Given the description of an element on the screen output the (x, y) to click on. 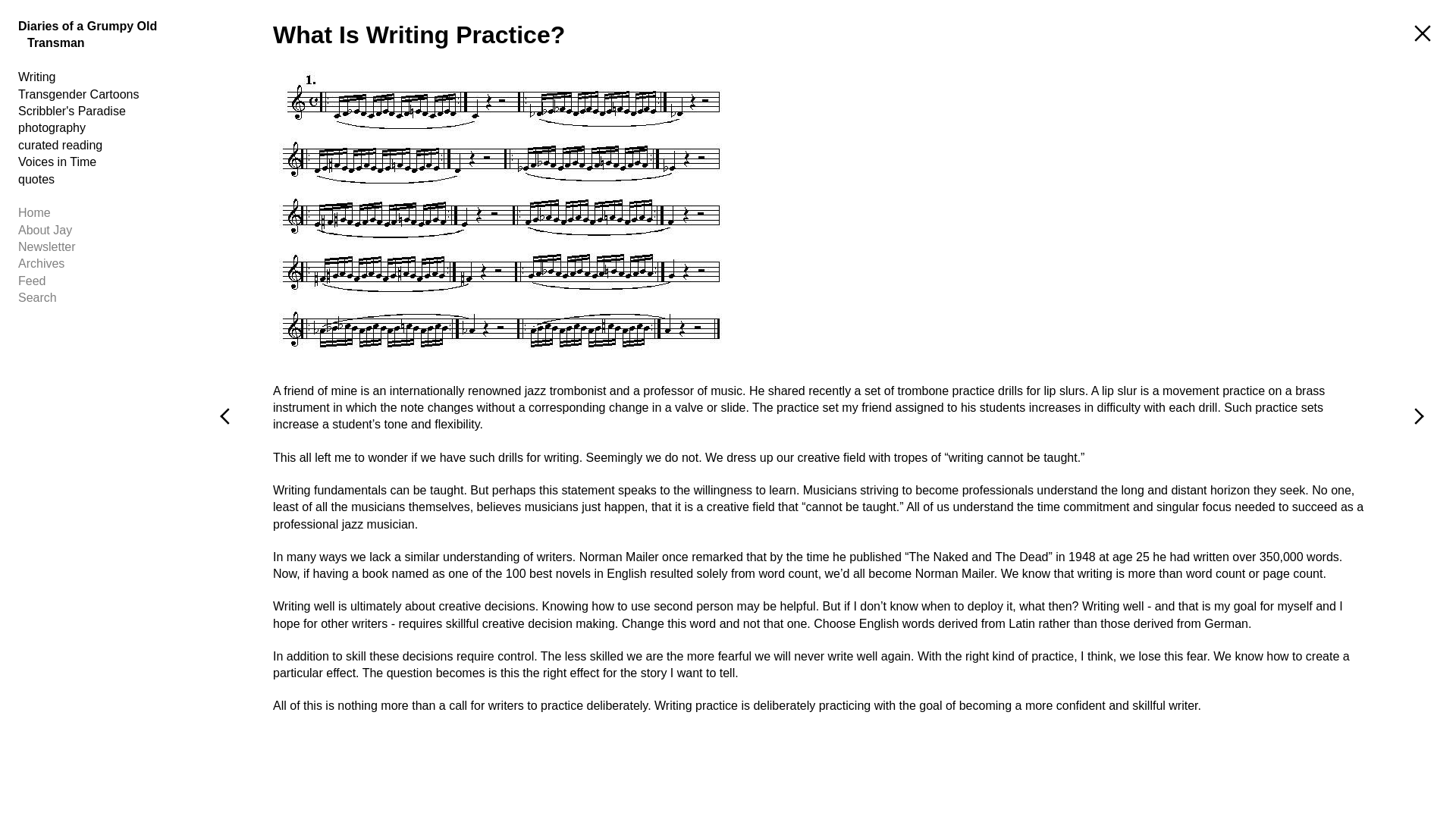
Writing (102, 76)
Home (102, 212)
Diaries of a Grumpy Old Transman (102, 35)
Transgender Cartoons (102, 94)
About Jay (102, 230)
Archives (102, 263)
curated reading (102, 145)
photography (102, 127)
Scribbler's Paradise (102, 111)
quotes (102, 179)
Voices in Time (102, 161)
Feed (102, 280)
Search (102, 297)
Newsletter (102, 247)
